Given the description of an element on the screen output the (x, y) to click on. 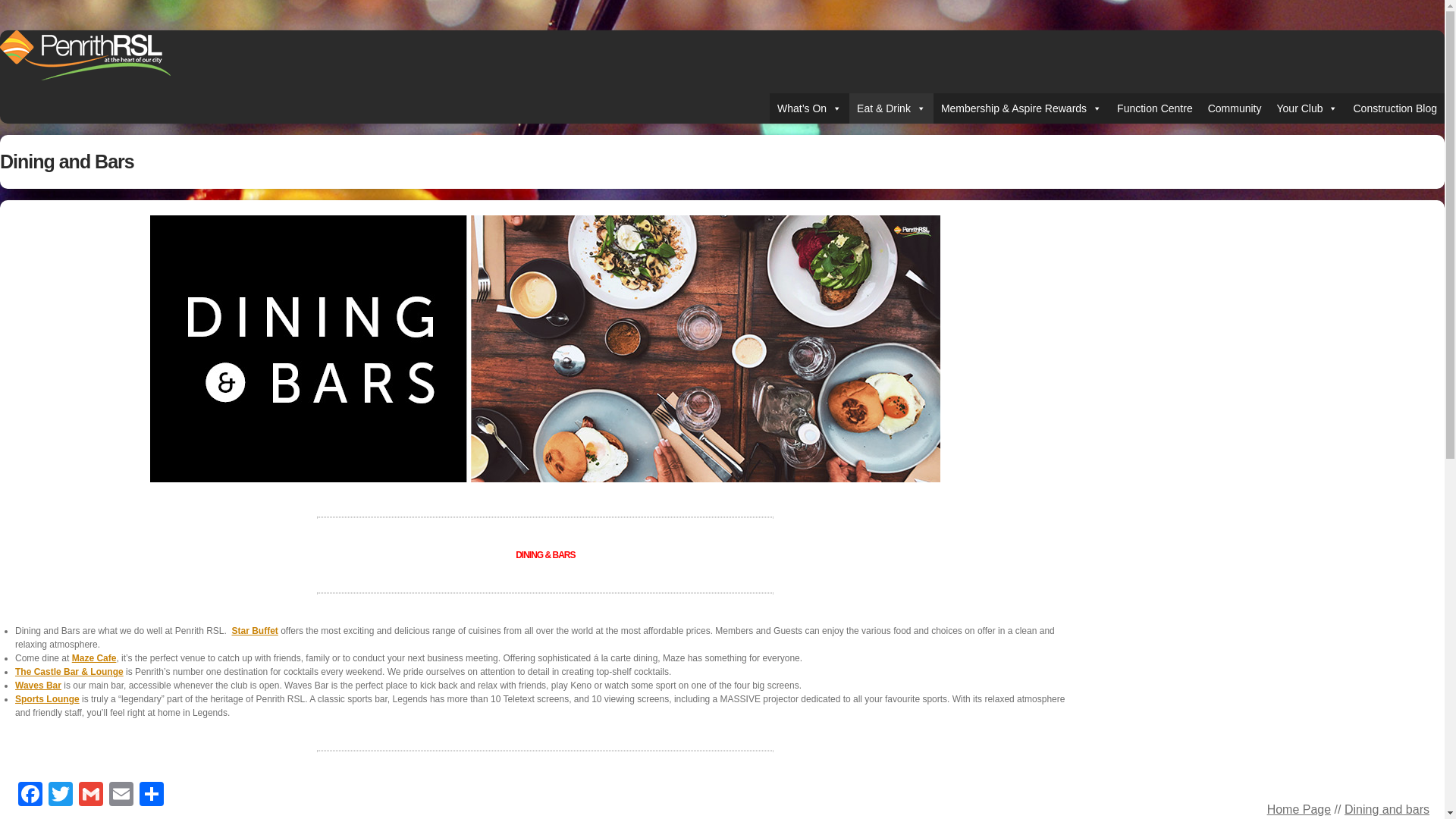
Community (1234, 108)
Gmail (90, 795)
Star Buffet (254, 630)
Facebook (29, 795)
Twitter (60, 795)
Your Club (1307, 108)
Penrith RSL (85, 75)
Castle Bar and Lounge (68, 671)
Function Centre (1154, 108)
Maze Cafe (93, 657)
Email (121, 795)
